Given the description of an element on the screen output the (x, y) to click on. 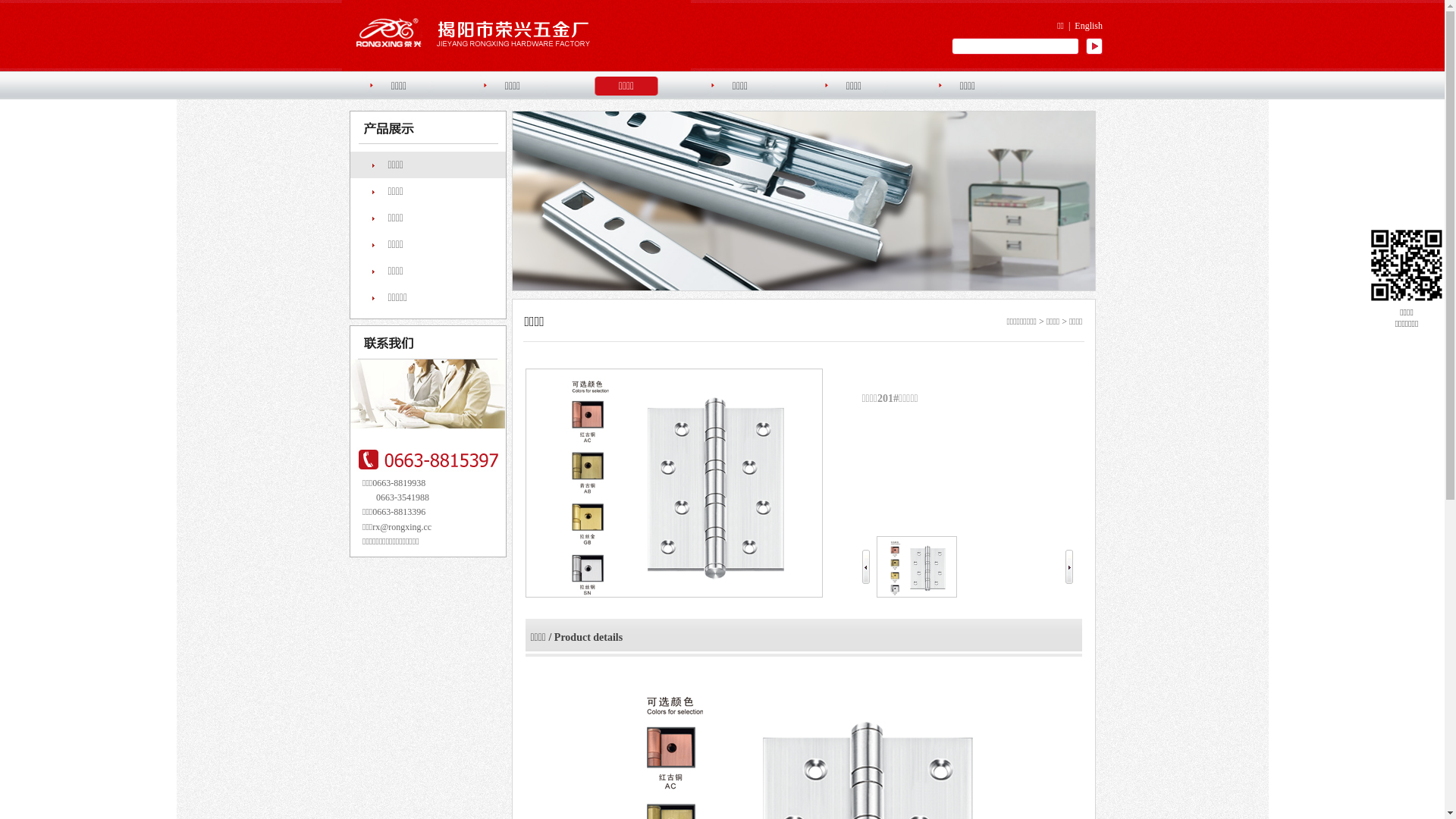
Next Element type: text (1090, 210)
Previous Element type: text (516, 210)
English Element type: text (1088, 25)
